Given the description of an element on the screen output the (x, y) to click on. 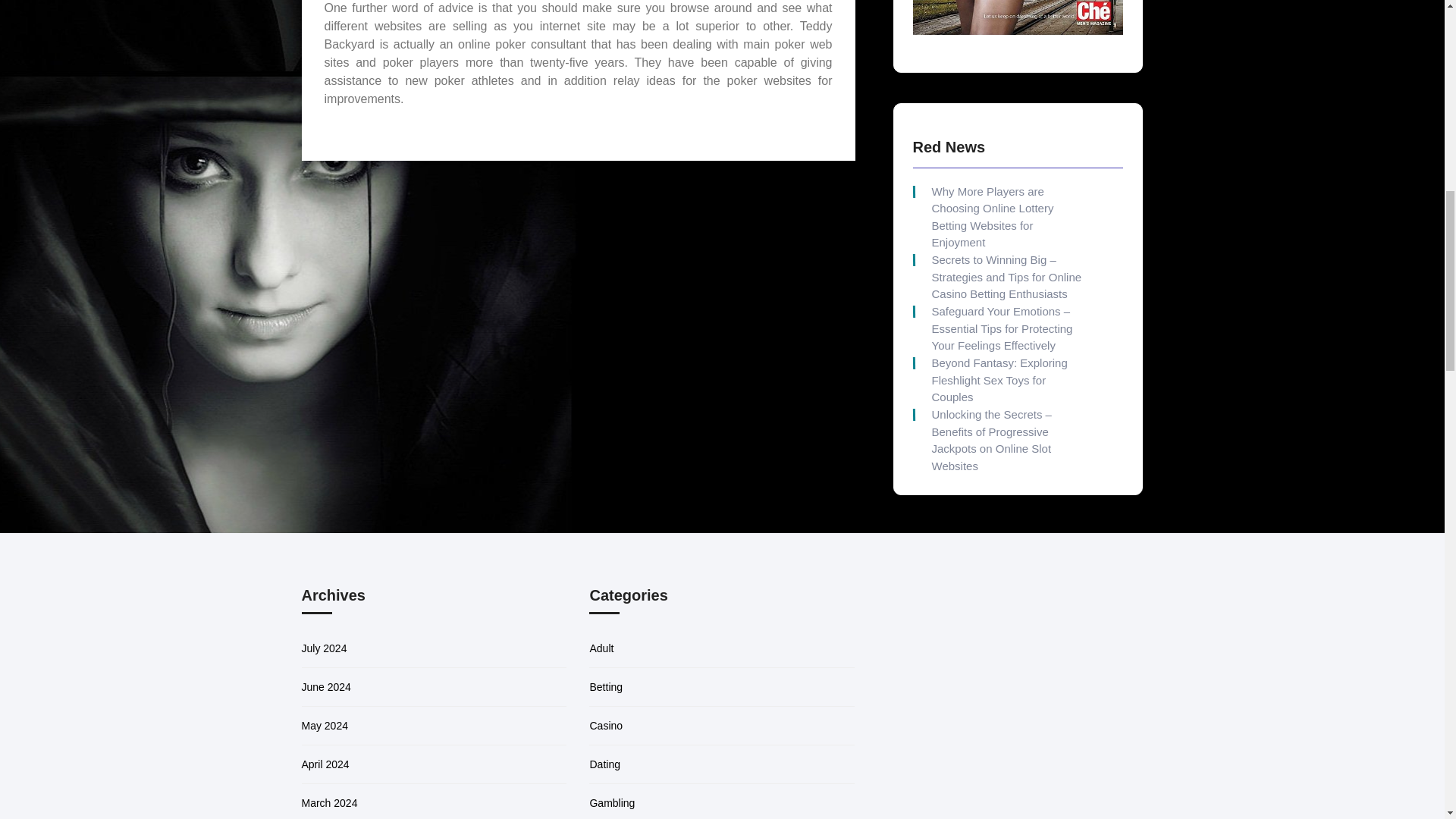
May 2024 (324, 725)
Beyond Fantasy: Exploring Fleshlight Sex Toys for Couples (1005, 380)
June 2024 (325, 686)
April 2024 (325, 764)
July 2024 (324, 648)
March 2024 (329, 802)
